Given the description of an element on the screen output the (x, y) to click on. 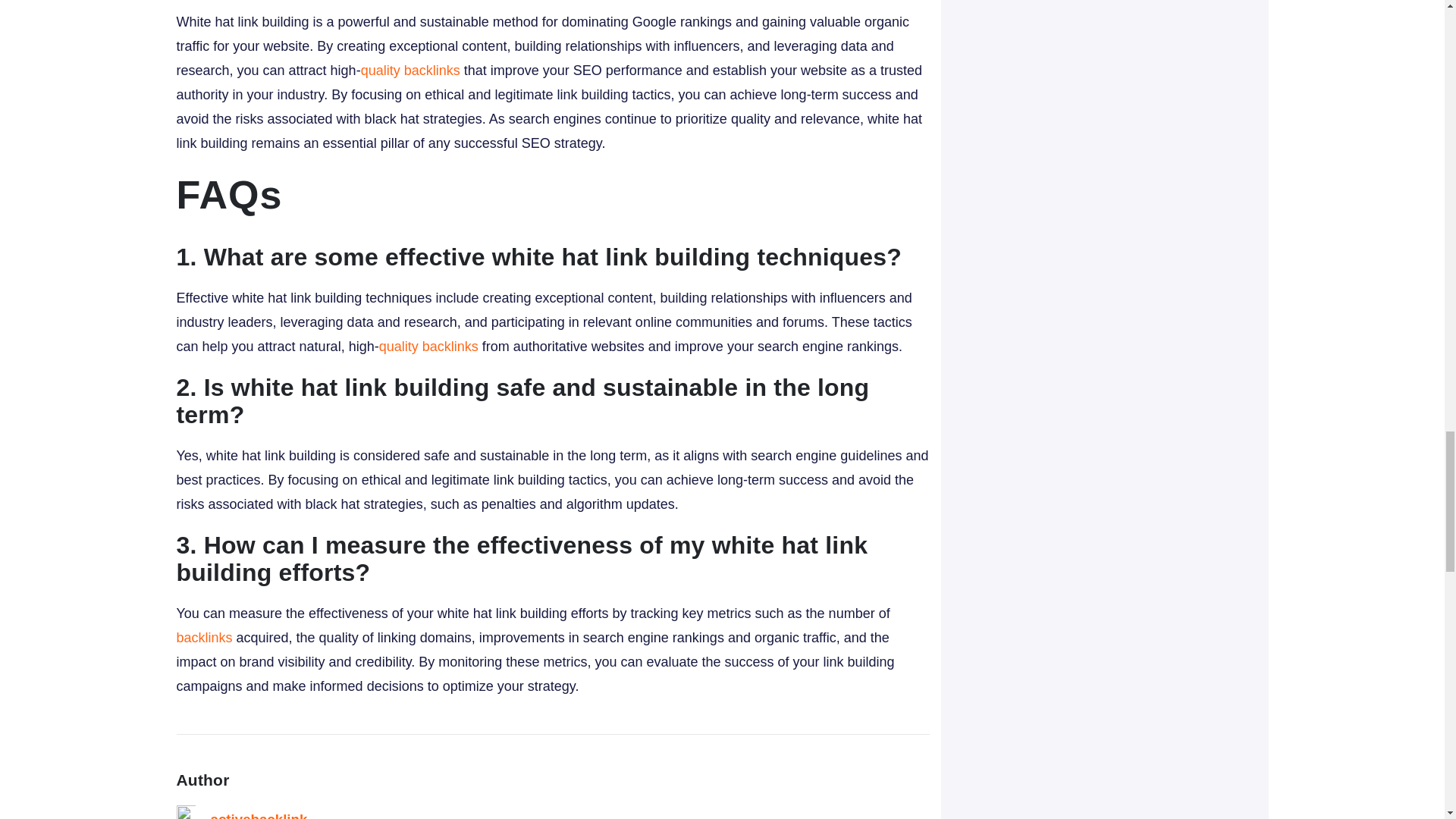
quality backlinks (410, 70)
quality backlinks (428, 346)
Posts by activebacklink (259, 815)
backlinks (203, 637)
